Given the description of an element on the screen output the (x, y) to click on. 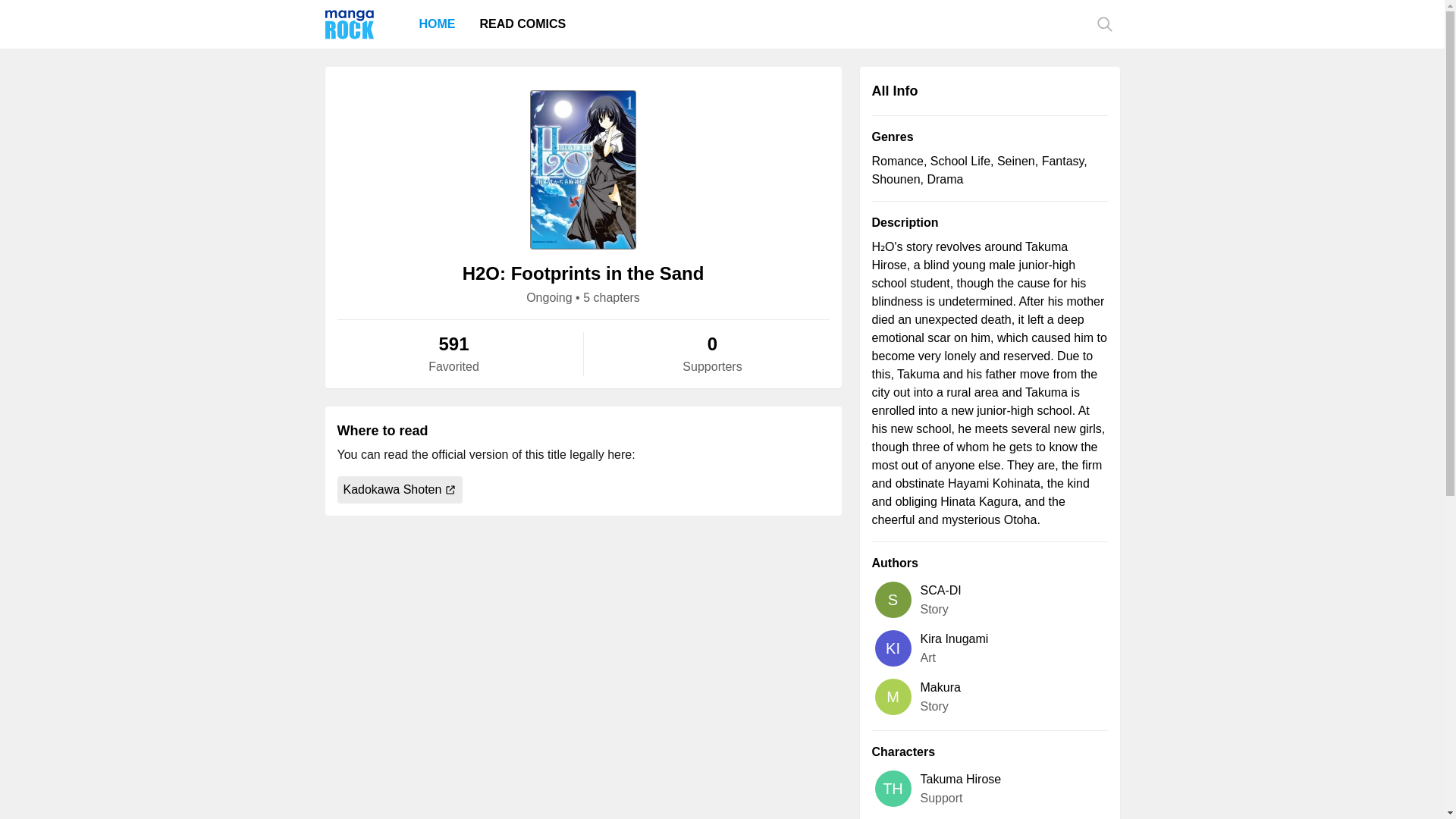
READ COMICS (522, 24)
Kadokawa Shoten (399, 489)
SCA-DI (940, 589)
Takuma Hirose (960, 779)
HOME (436, 24)
Kira Inugami (954, 638)
Makura (940, 687)
